Given the description of an element on the screen output the (x, y) to click on. 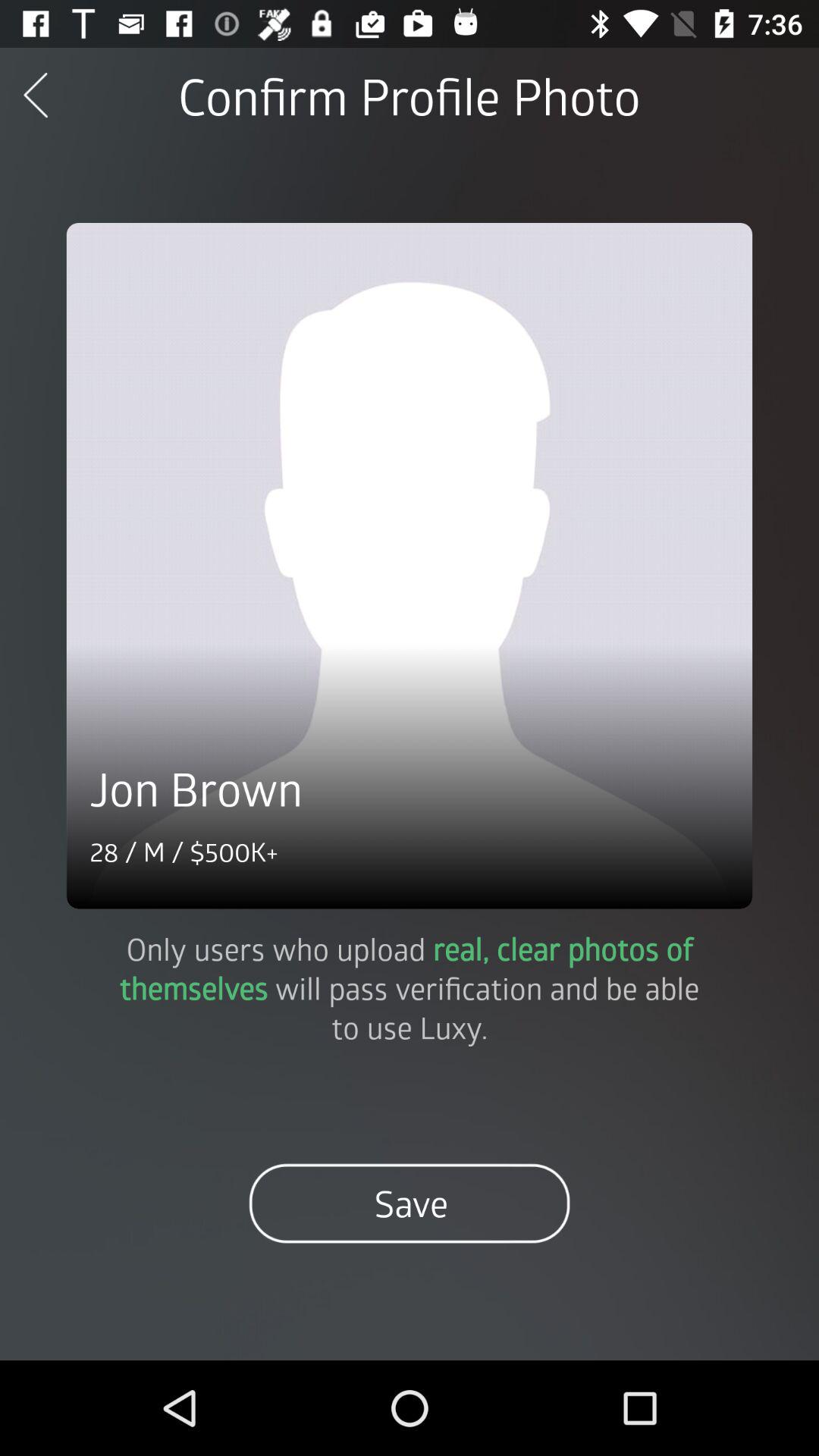
swipe to the save item (409, 1203)
